Given the description of an element on the screen output the (x, y) to click on. 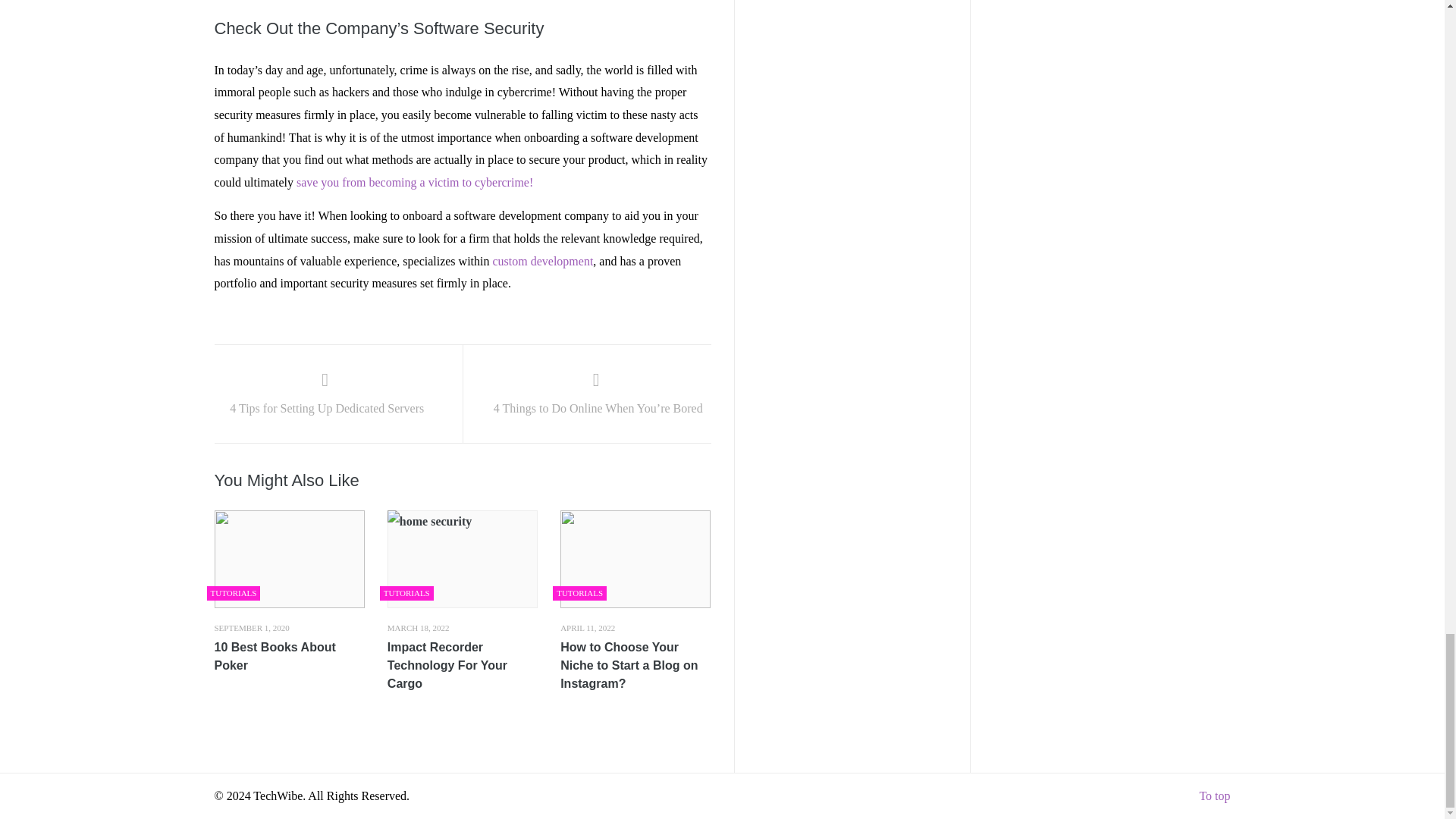
custom development (542, 260)
4 Tips for Setting Up Dedicated Servers (326, 396)
save you from becoming a victim to cybercrime! (414, 182)
